Given the description of an element on the screen output the (x, y) to click on. 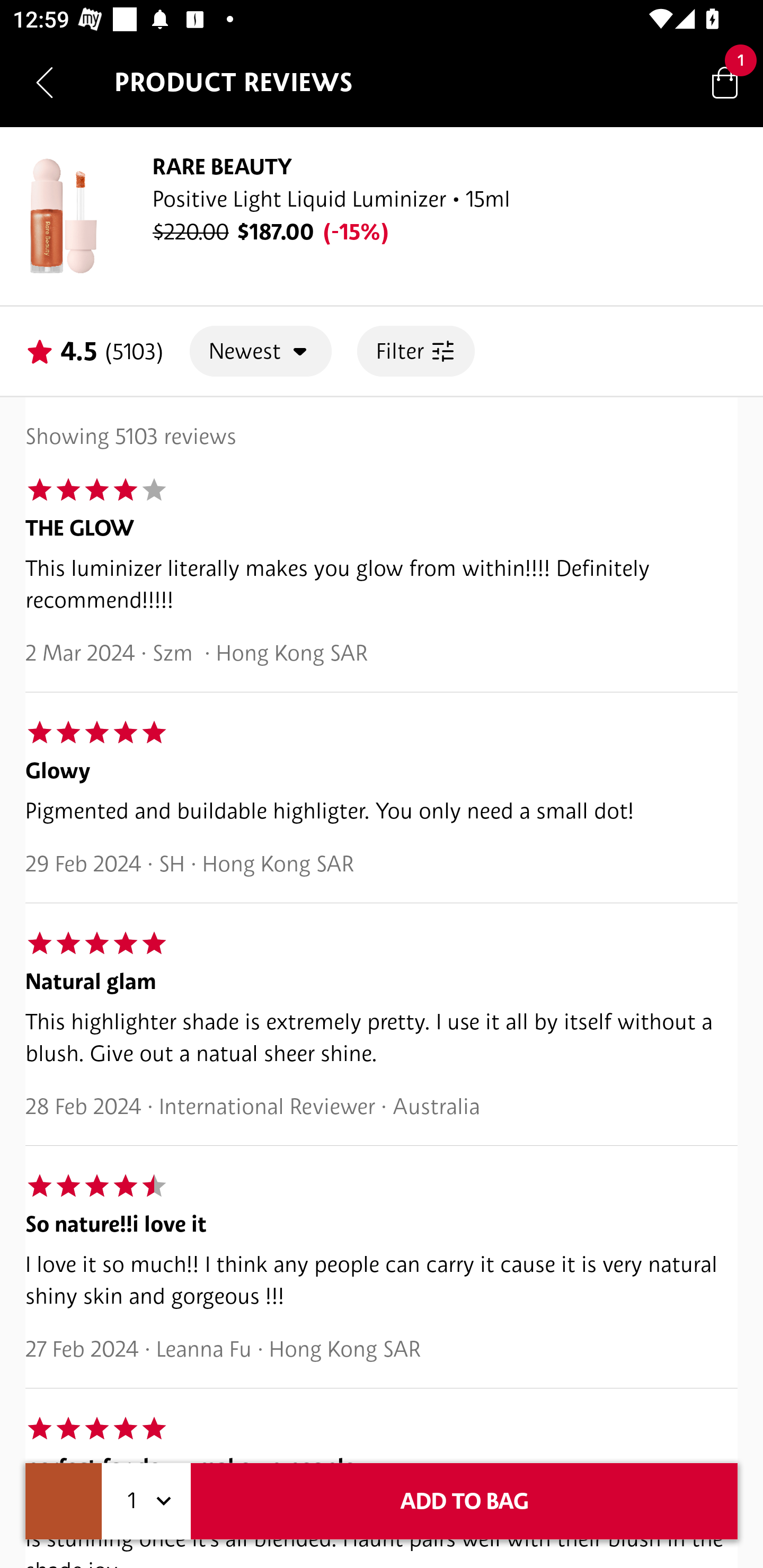
Navigate up (44, 82)
Bag (724, 81)
Newest (260, 351)
Filter (415, 351)
1 (145, 1500)
ADD TO BAG (463, 1500)
